Given the description of an element on the screen output the (x, y) to click on. 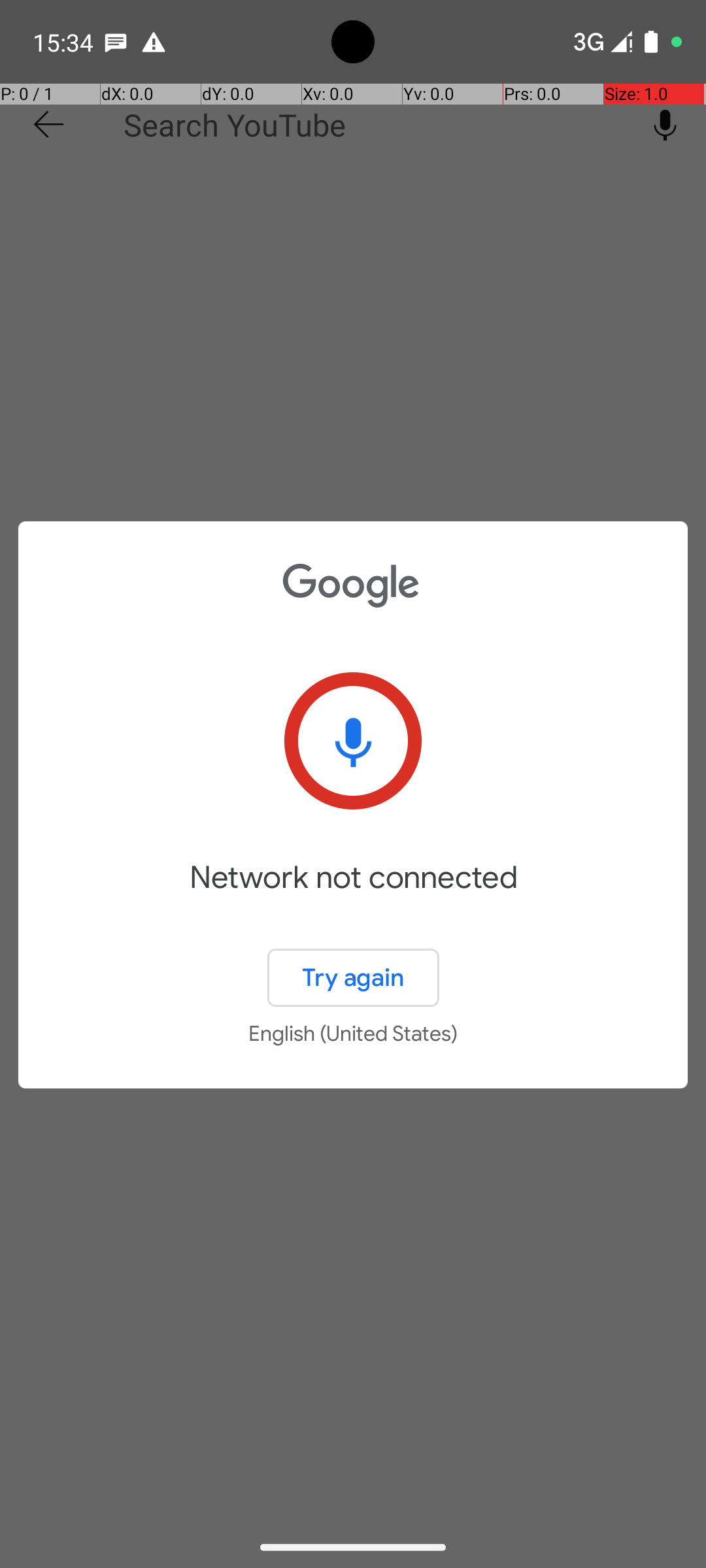
Network not connected Element type: android.widget.TextView (352, 895)
Try again Element type: android.widget.Button (353, 977)
